Given the description of an element on the screen output the (x, y) to click on. 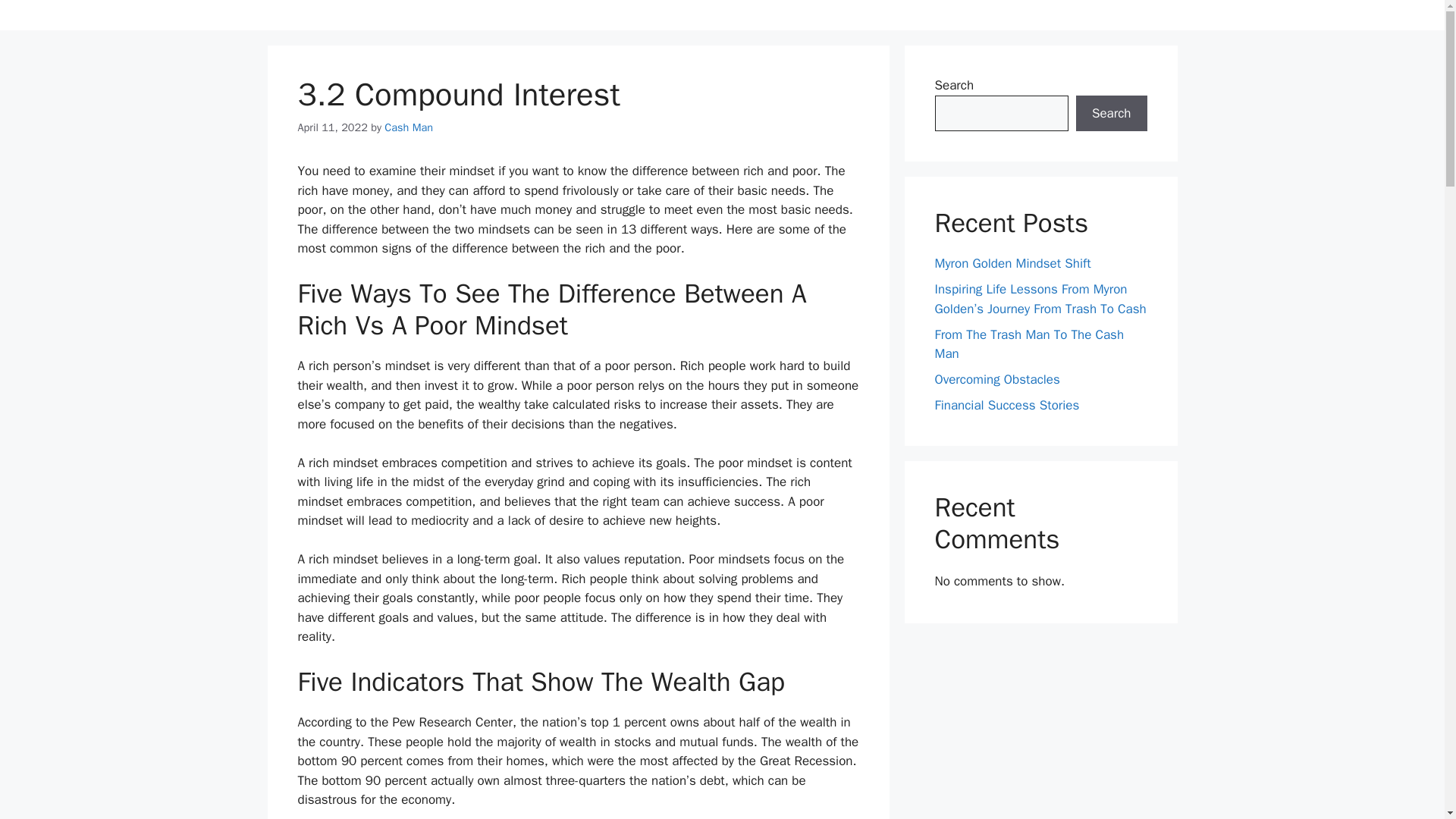
Myron Golden Mindset Shift (1012, 263)
From The Trash Man To The Cash Man (1029, 343)
Overcoming Obstacles (996, 379)
Search (1111, 113)
Financial Success Stories (1006, 405)
View all posts by Cash Man (408, 127)
Cash Man (408, 127)
